Given the description of an element on the screen output the (x, y) to click on. 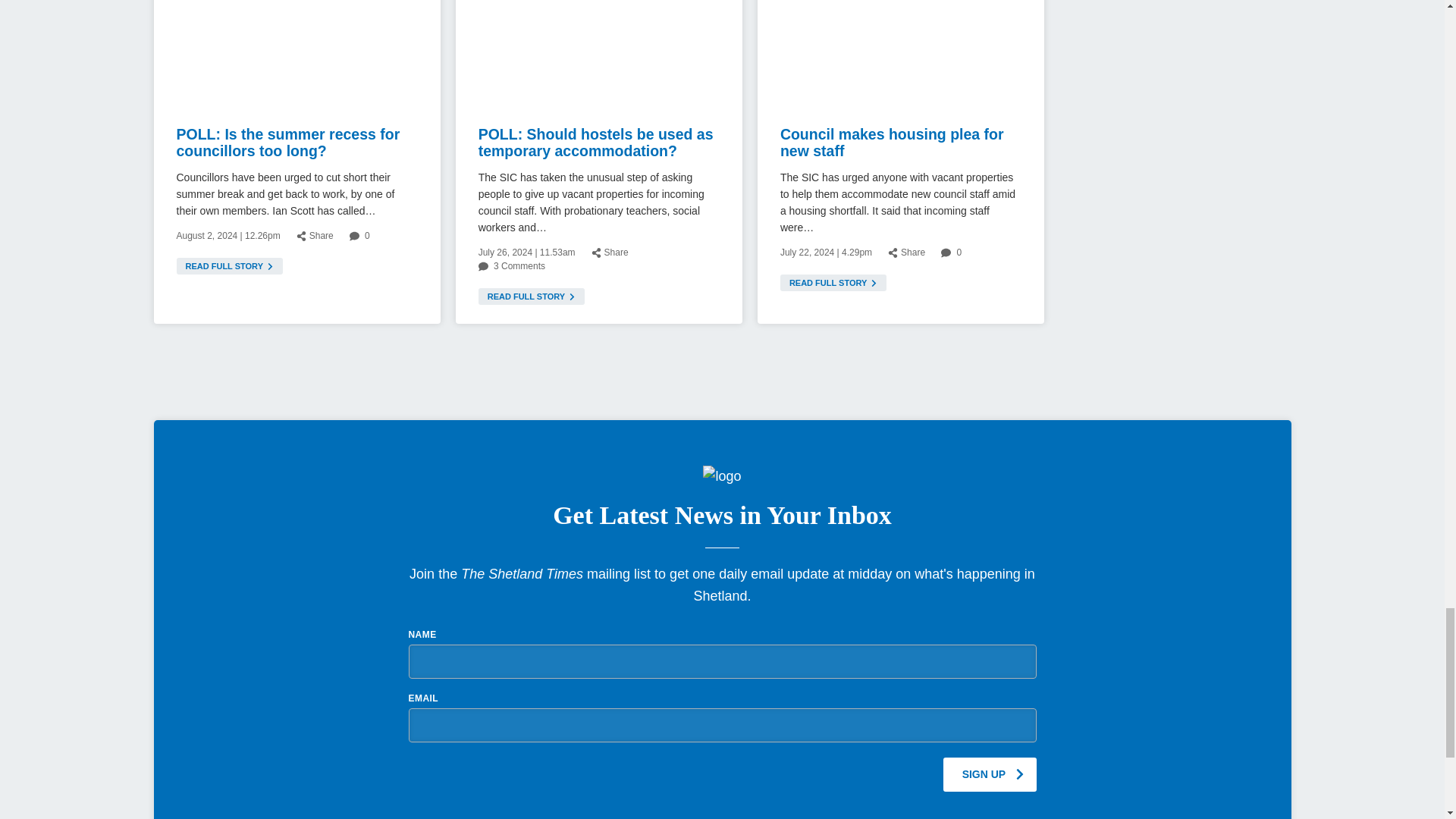
3 Comments (511, 265)
POLL: Should hostels be used as temporary accommodation? (596, 142)
0 (359, 235)
READ FULL STORY (229, 265)
POLL: Is the summer recess for councillors too long? (287, 142)
READ FULL STORY (532, 296)
